Given the description of an element on the screen output the (x, y) to click on. 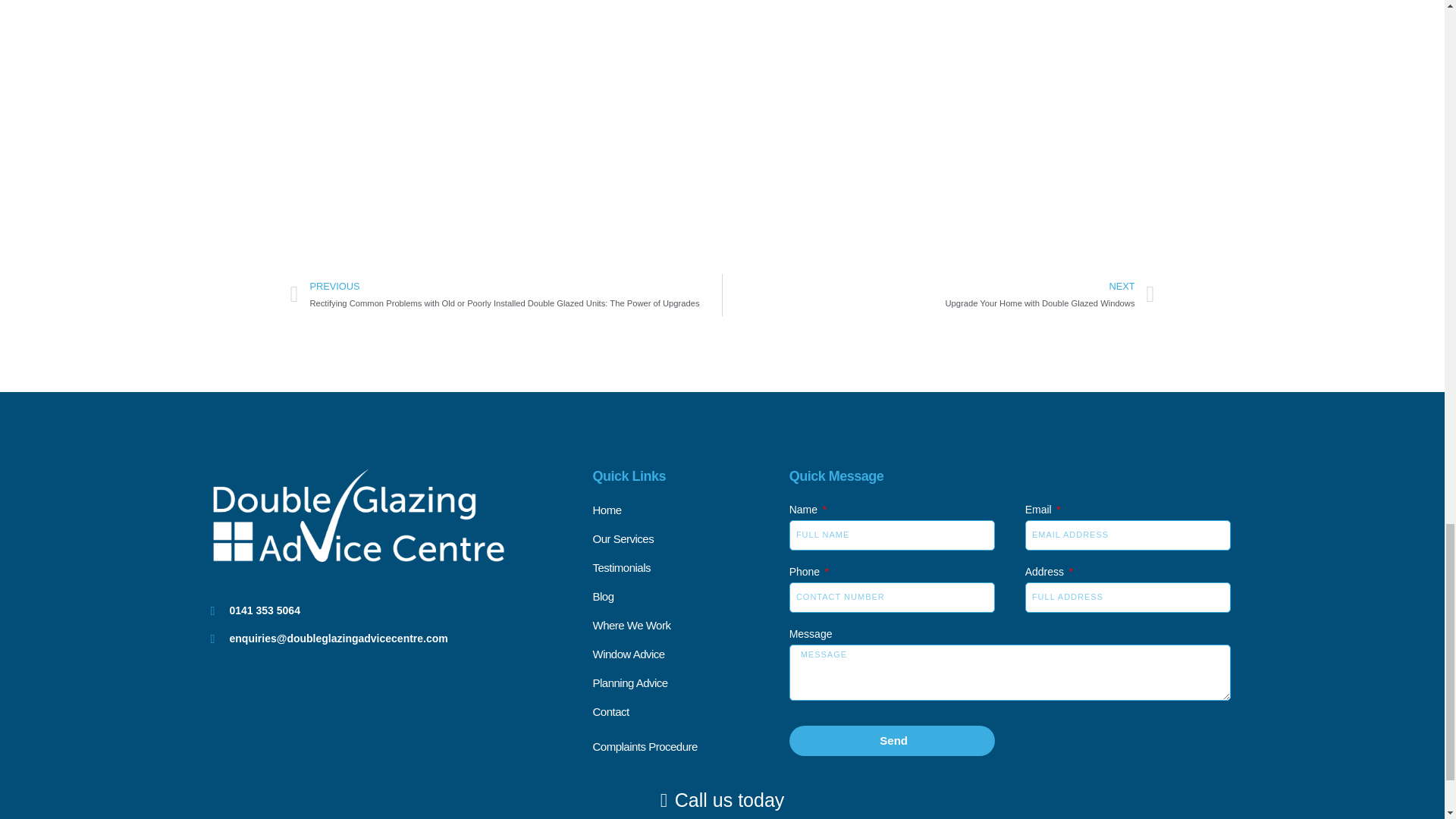
Window Advice (690, 654)
Where We Work (690, 625)
Home (690, 510)
0141 353 5064 (938, 294)
Blog (401, 610)
Our Services (690, 596)
Testimonials (690, 538)
